Given the description of an element on the screen output the (x, y) to click on. 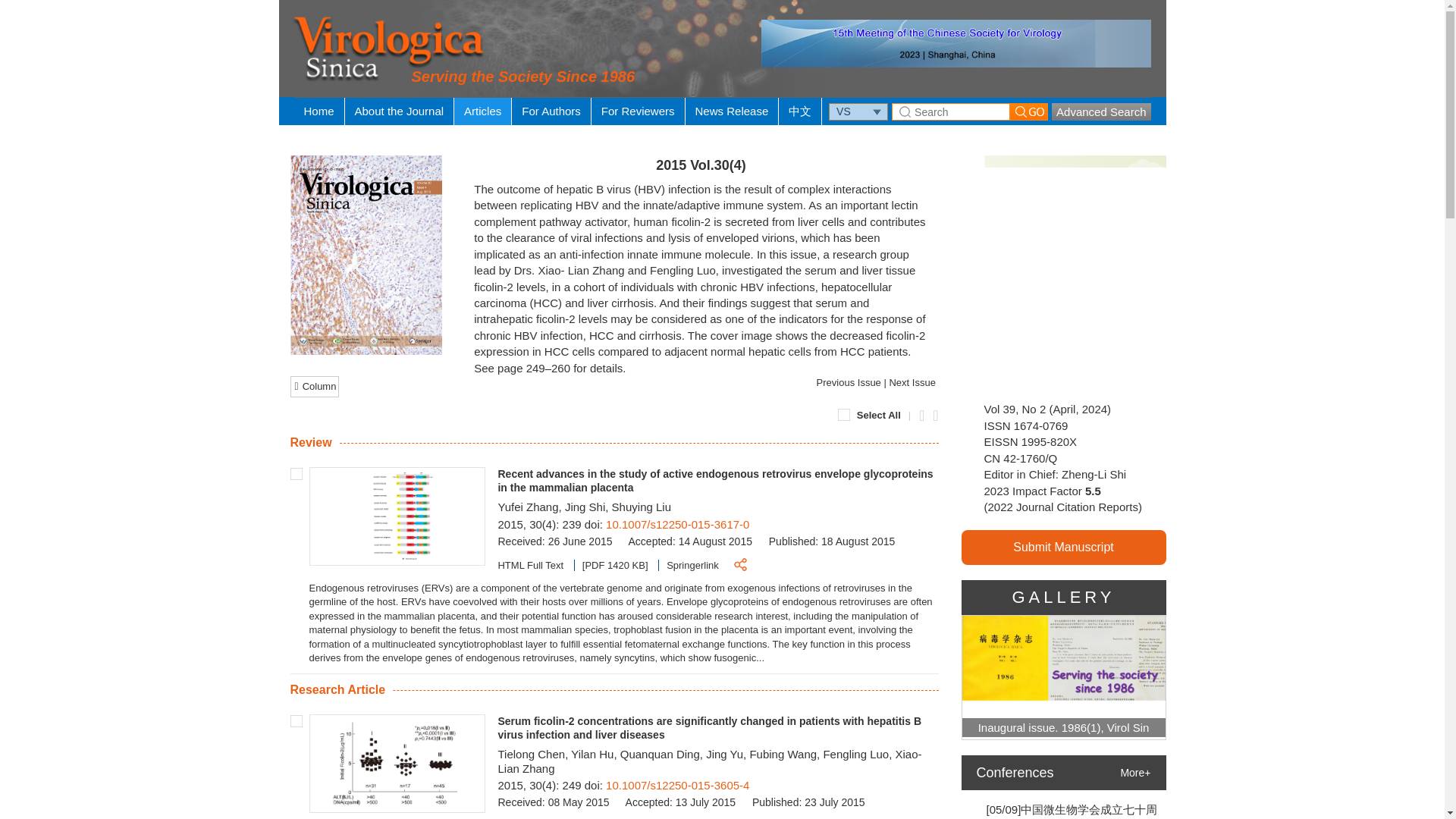
72ff0ae7-e12c-4e65-a318-eb2975a4ca1a (295, 473)
About the Journal (399, 111)
72497ec9-bb85-4e66-888e-b44e055cbc6d (295, 720)
For Reviewers (637, 111)
News Release (731, 111)
For Authors (551, 111)
Articles (482, 111)
Advanced Search (1100, 111)
Home (318, 111)
